Given the description of an element on the screen output the (x, y) to click on. 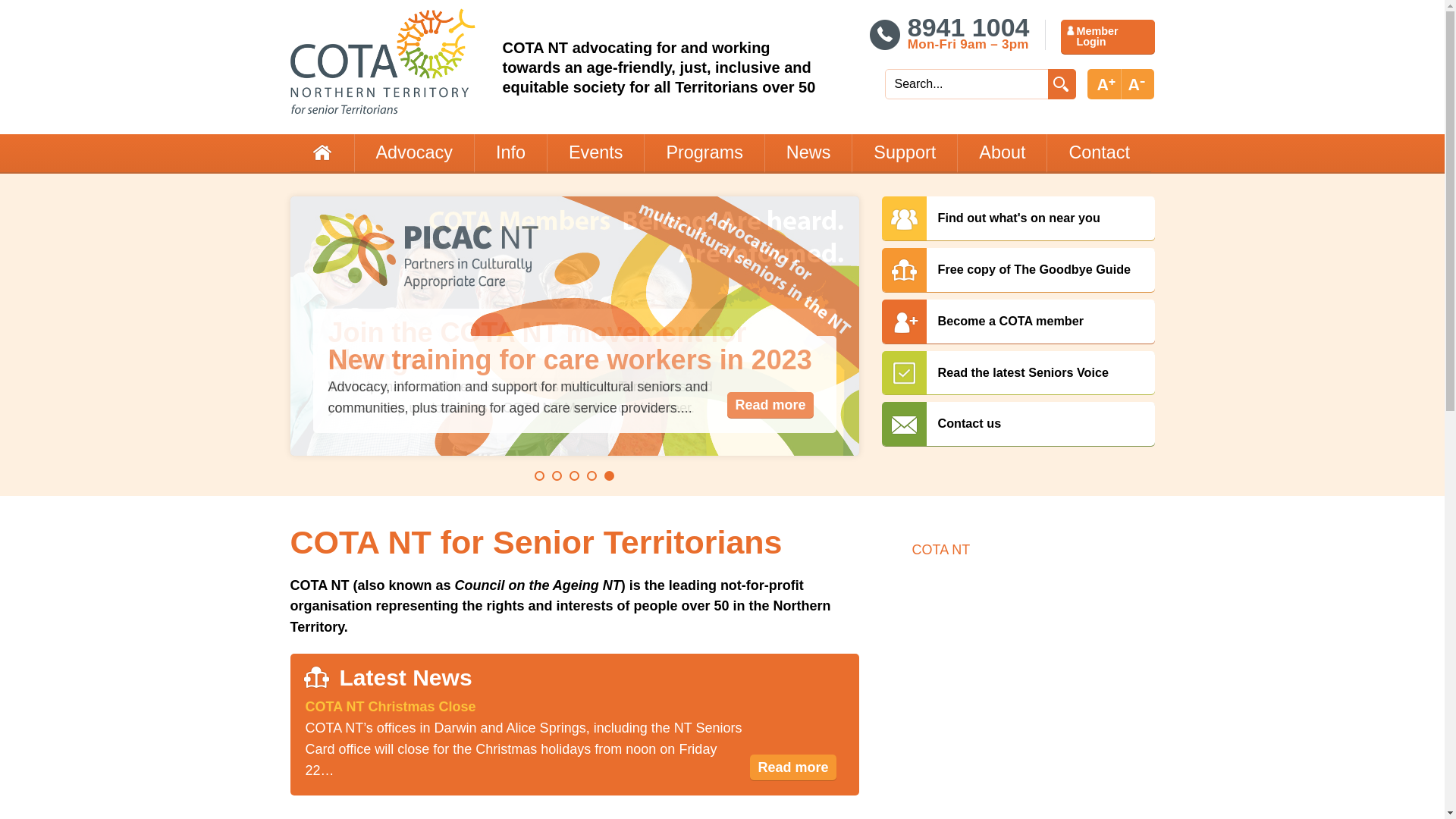
Contact Element type: text (1098, 153)
3 Element type: text (574, 475)
Find out what's on near you Element type: text (1017, 218)
News Element type: text (808, 153)
Programs Element type: text (703, 153)
Events Element type: text (595, 153)
Read more Element type: text (769, 404)
COTA NT Element type: text (940, 549)
Home Element type: text (321, 153)
Become a COTA member Element type: text (1017, 321)
About Element type: text (1001, 153)
Support Element type: text (904, 153)
Contact us Element type: text (1017, 423)
2 Element type: text (556, 475)
5 Element type: text (609, 475)
Read more Element type: text (792, 767)
Advocacy Element type: text (413, 153)
COTA NT Christmas Close Element type: text (389, 706)
Member Login Element type: text (1107, 36)
4 Element type: text (591, 475)
1 Element type: text (539, 475)
Free copy of The Goodbye Guide Element type: text (1017, 269)
Info Element type: text (509, 153)
Read the latest Seniors Voice Element type: text (1017, 372)
